Given the description of an element on the screen output the (x, y) to click on. 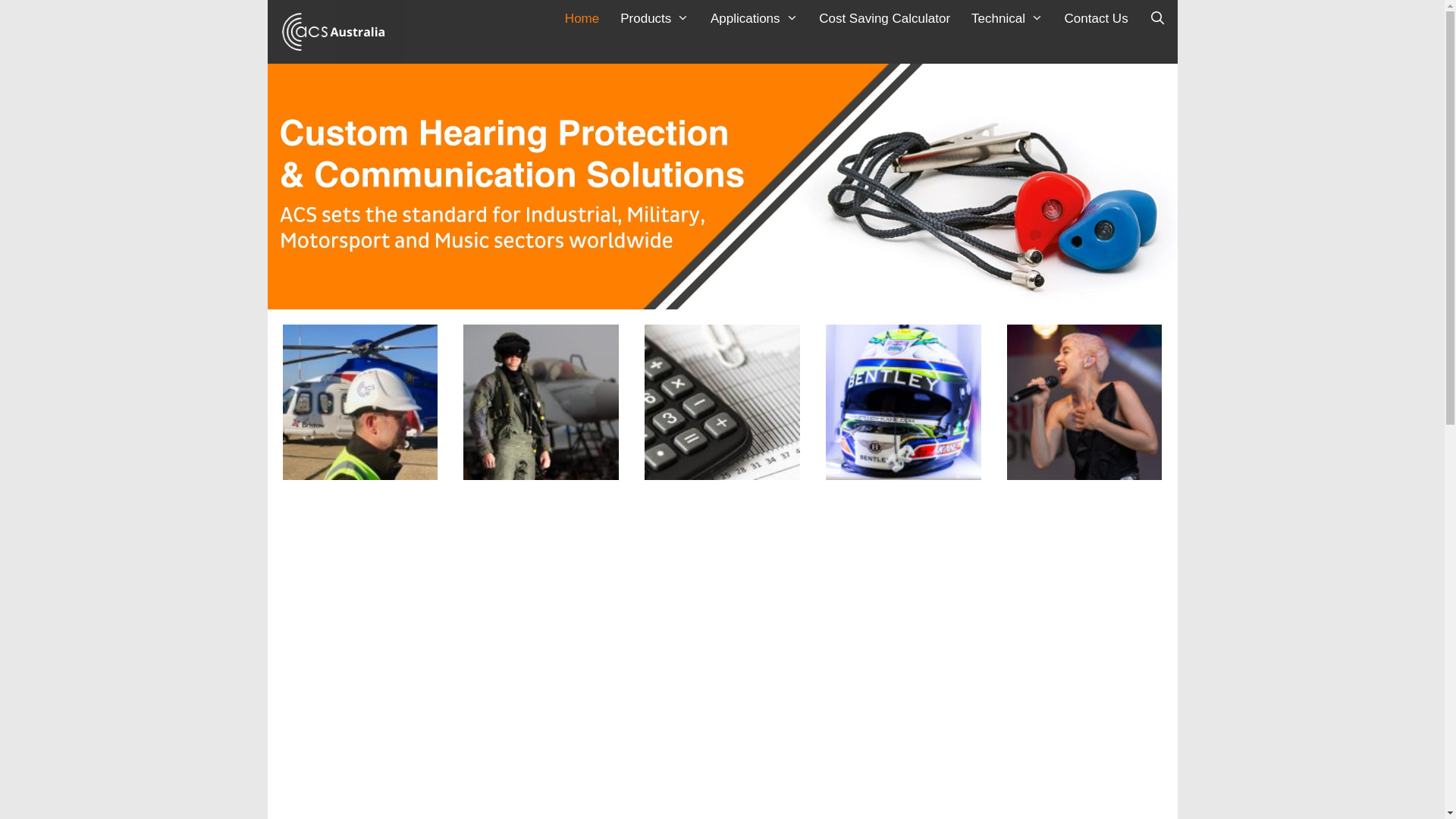
Applications Element type: text (753, 18)
Contact Us Element type: text (1096, 18)
Products Element type: text (654, 18)
Cost Saving Calculator Element type: text (884, 18)
Technical Element type: text (1006, 18)
Home Element type: text (581, 18)
